Given the description of an element on the screen output the (x, y) to click on. 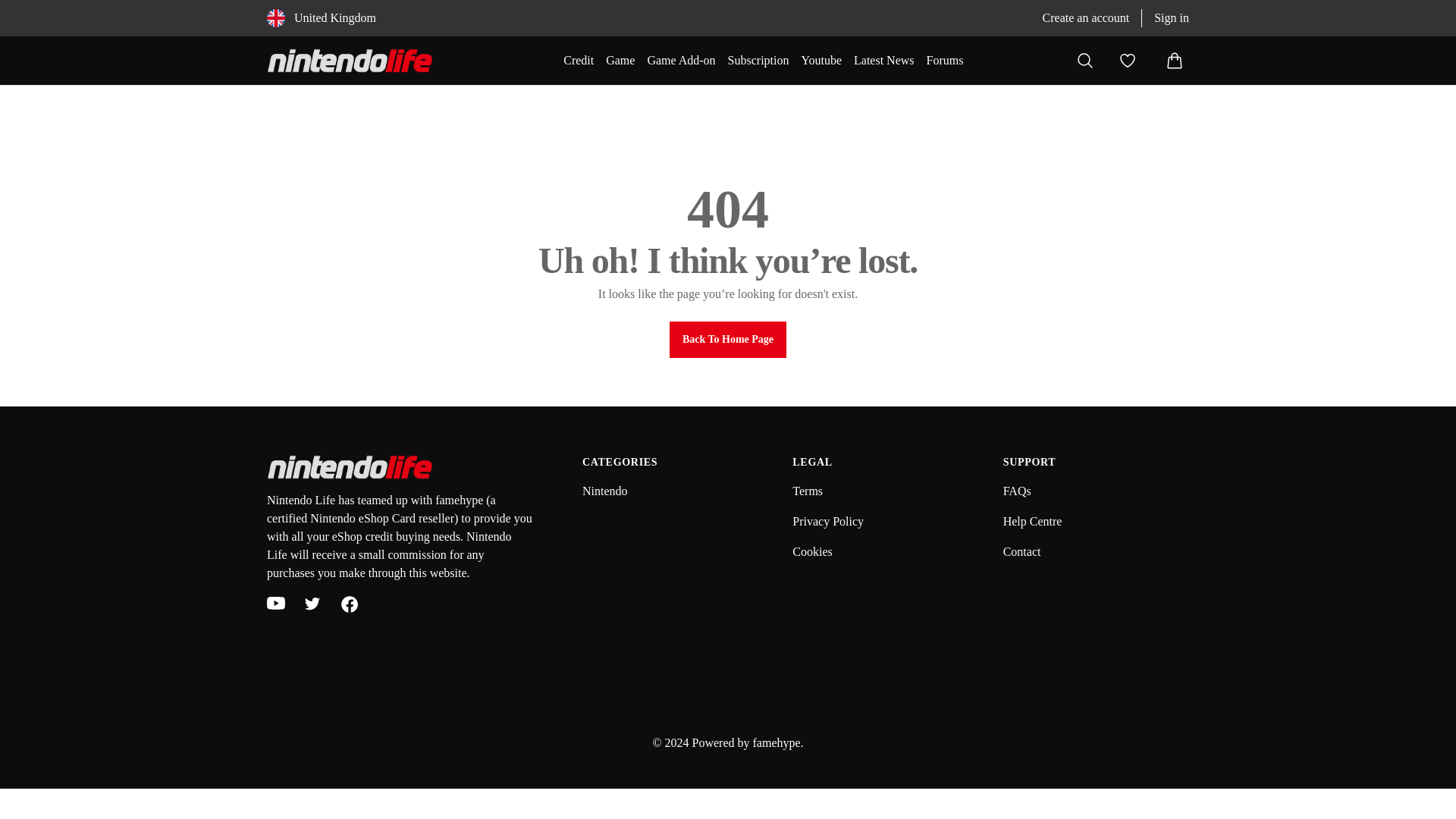
FAQs (1016, 490)
Latest News (883, 60)
twitter (311, 603)
Back To Home Page (727, 339)
Privacy Policy (827, 521)
Cookies (811, 551)
Help Centre (1032, 521)
Game (619, 60)
Nintendo (604, 490)
Subscription (758, 60)
Contact (1022, 551)
youtube (275, 603)
Sign in (1171, 18)
gb (275, 18)
Search (1085, 60)
